Given the description of an element on the screen output the (x, y) to click on. 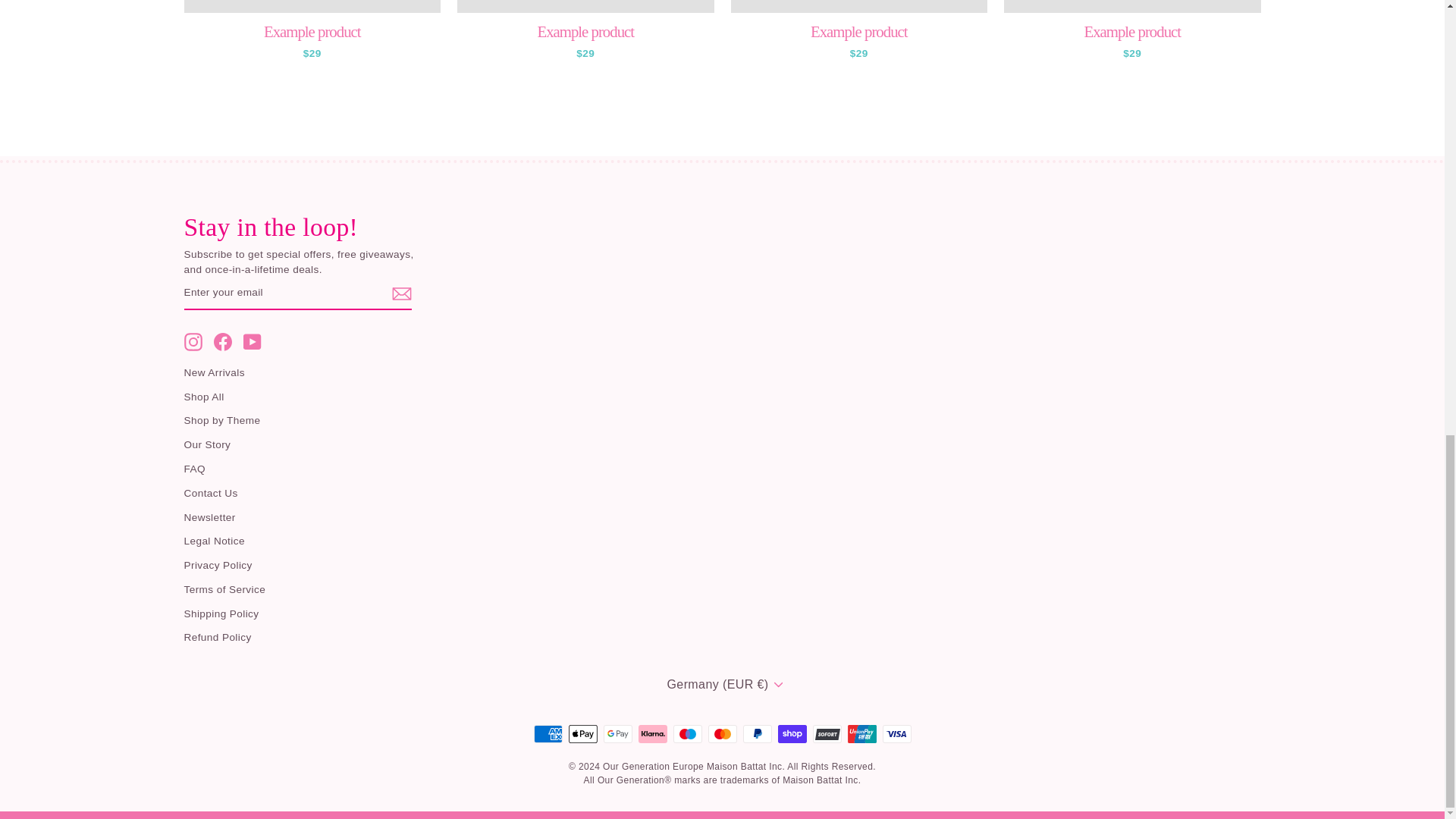
Our Generation Europe on Instagram (192, 341)
Our Generation Europe on YouTube (251, 341)
Our Generation Europe on Facebook (222, 341)
Apple Pay (582, 733)
American Express (548, 733)
